Given the description of an element on the screen output the (x, y) to click on. 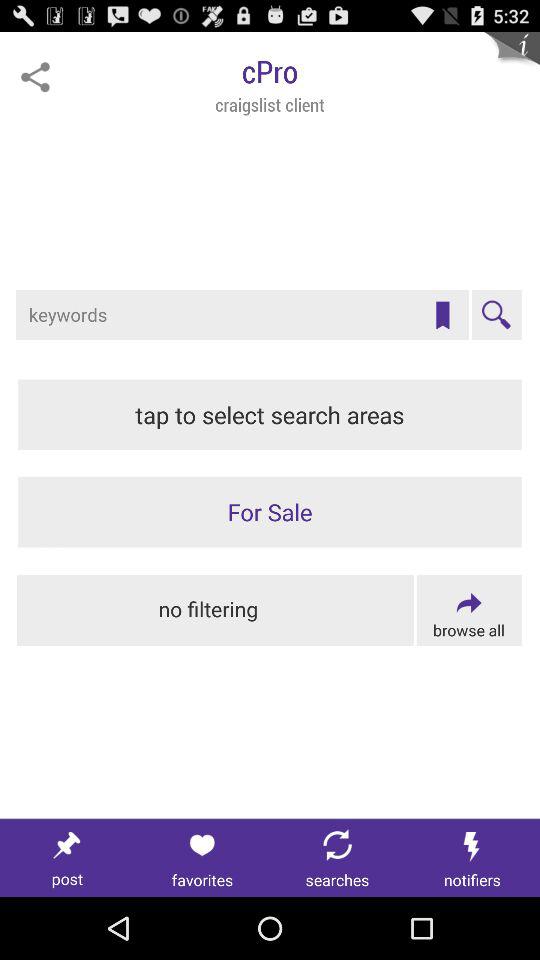
view notification (472, 858)
